Given the description of an element on the screen output the (x, y) to click on. 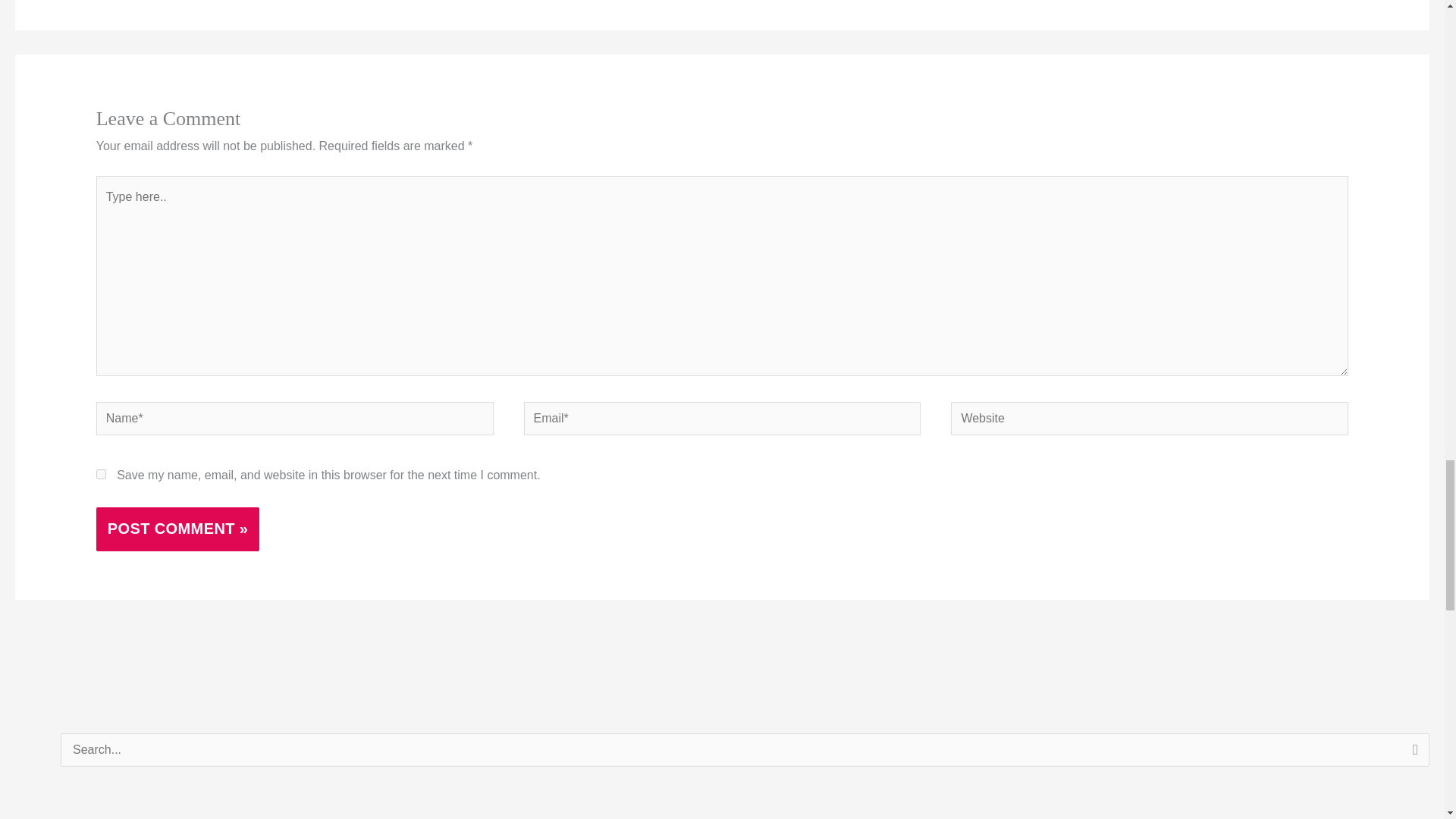
yes (101, 474)
Advertisement (142, 809)
